Given the description of an element on the screen output the (x, y) to click on. 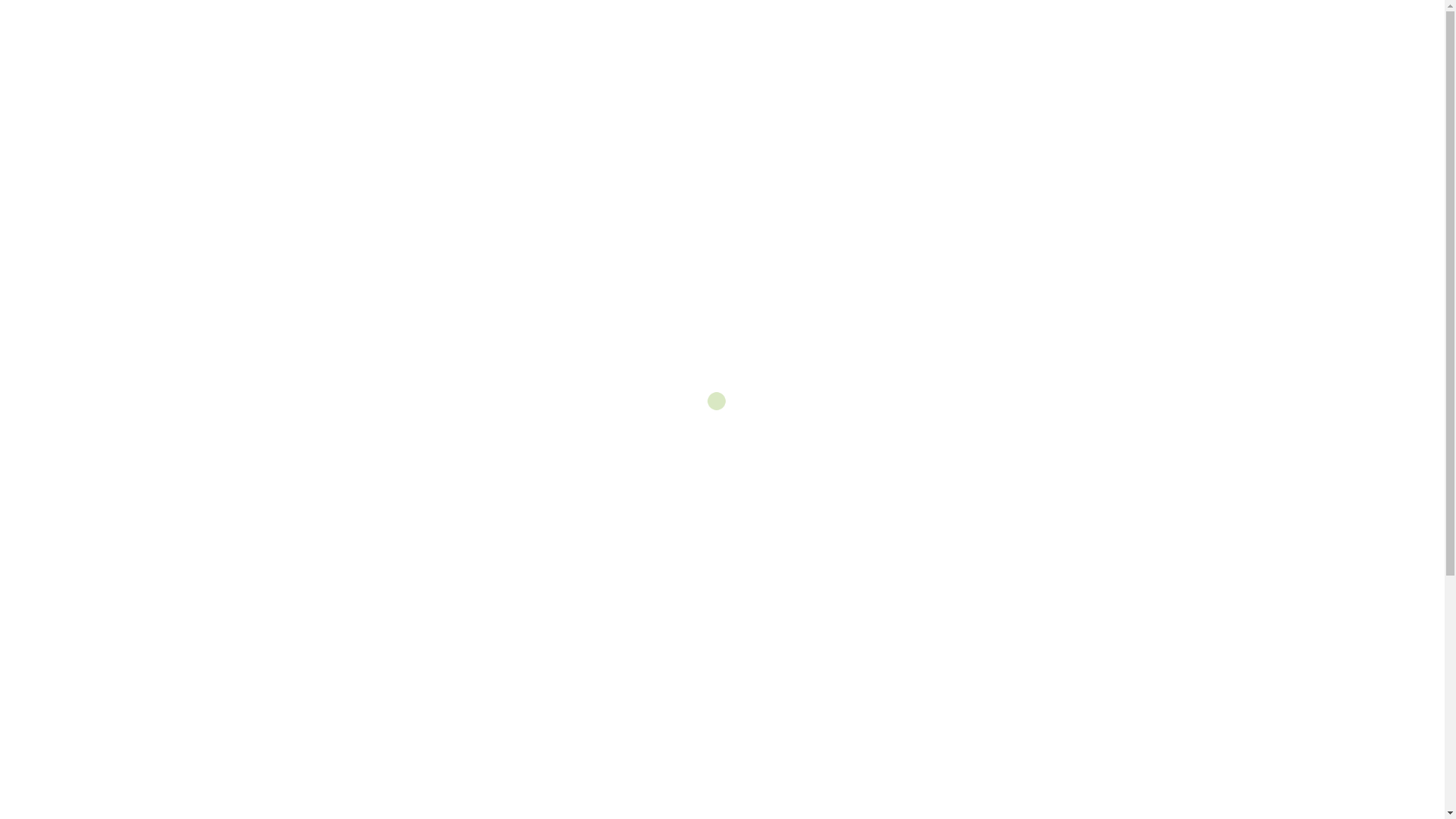
LIEGENSCHAFTEN Element type: text (1000, 63)
PLANUNG Element type: text (1099, 63)
UPCYCLING Element type: text (1261, 63)
Beratung Element type: hover (486, 273)
boeschga Element type: text (261, 456)
BERATUNG Element type: text (273, 434)
ABOS Element type: text (758, 63)
info(at)boesch-gaerten.ch Element type: text (96, 16)
GARTENBAU/-UNTERHALT Element type: text (860, 63)
PRODUKTE Element type: text (1181, 63)
